Given the description of an element on the screen output the (x, y) to click on. 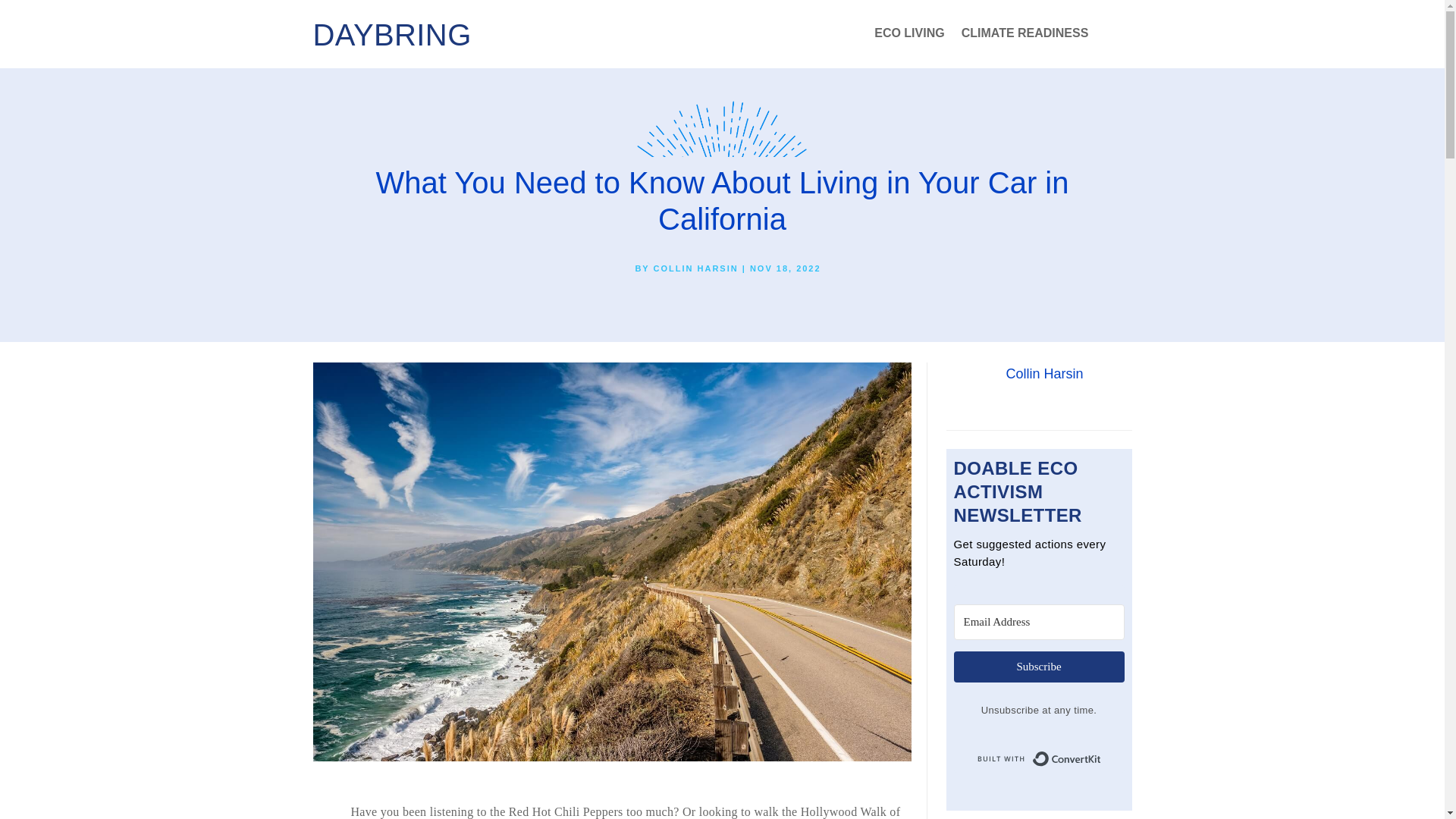
COLLIN HARSIN (695, 267)
Built with ConvertKit (1038, 759)
Posts by Collin Harsin (695, 267)
CLIMATE READINESS (1024, 36)
Collin Harsin (1044, 373)
ECO LIVING (909, 36)
Subscribe (1038, 666)
